Given the description of an element on the screen output the (x, y) to click on. 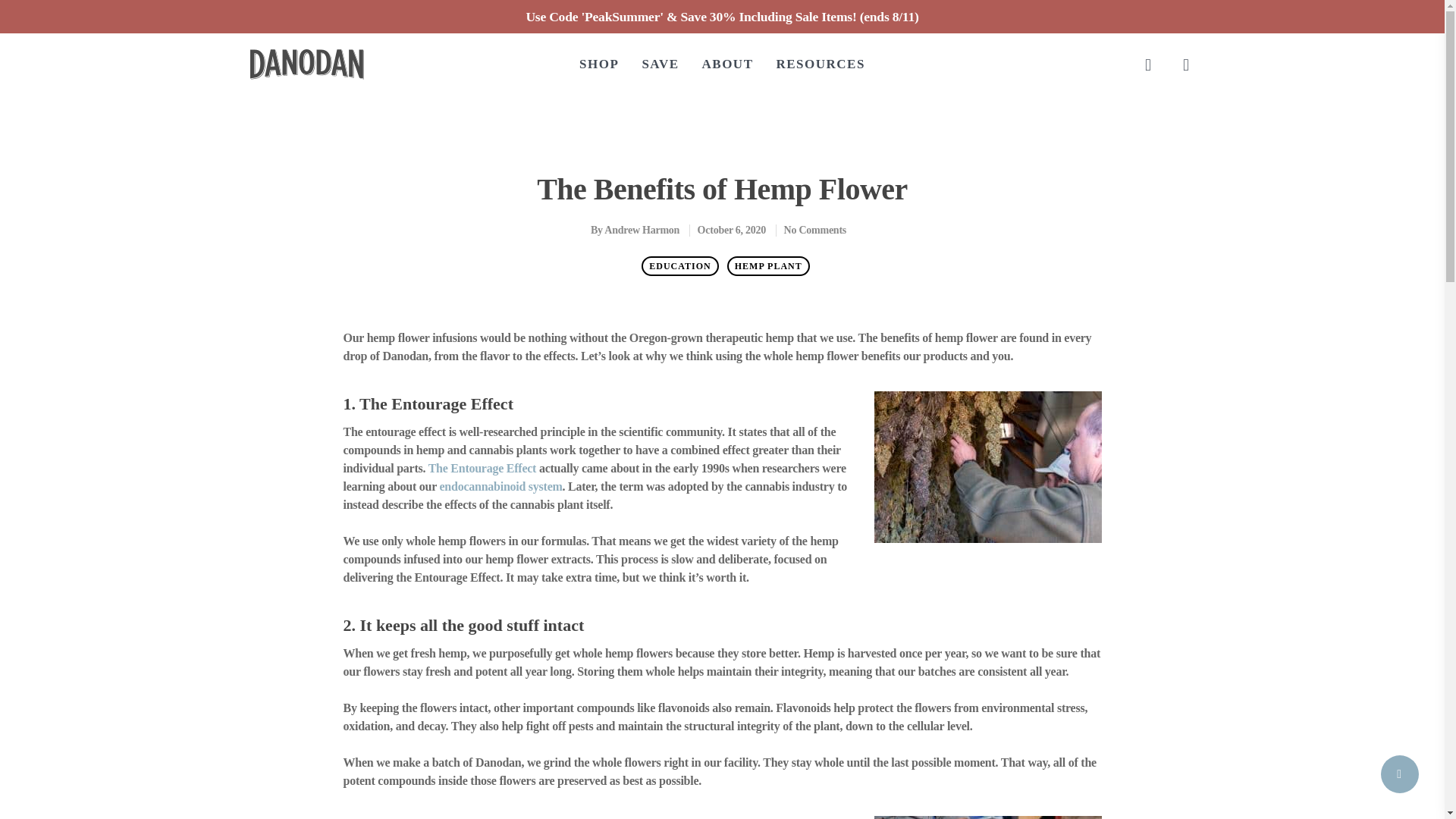
Posts by Andrew Harmon (641, 229)
SAVE (660, 64)
RESOURCES (820, 64)
SHOP (598, 64)
ABOUT (727, 64)
